Given the description of an element on the screen output the (x, y) to click on. 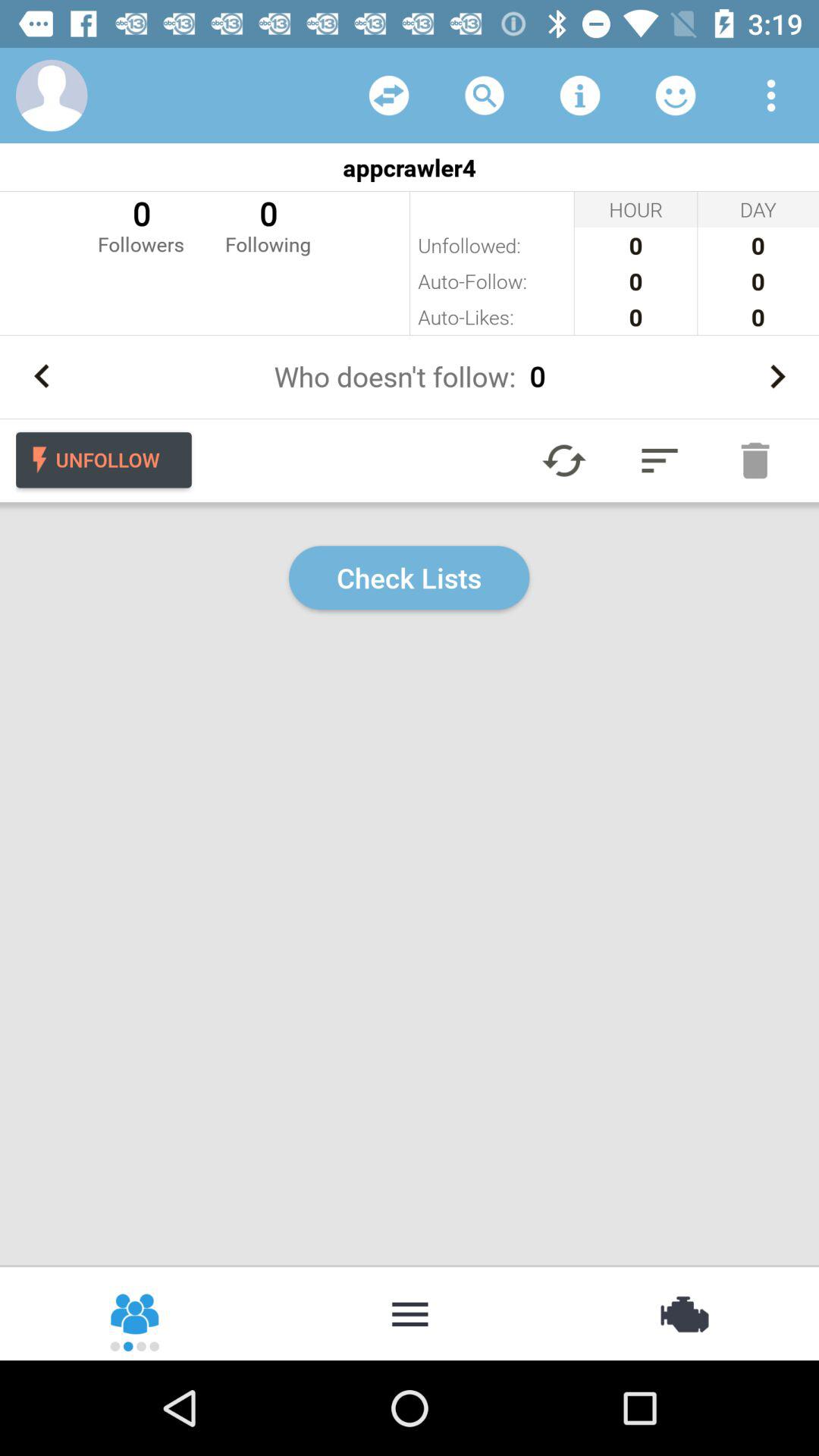
turn off icon below the appcrawler4 icon (140, 224)
